Given the description of an element on the screen output the (x, y) to click on. 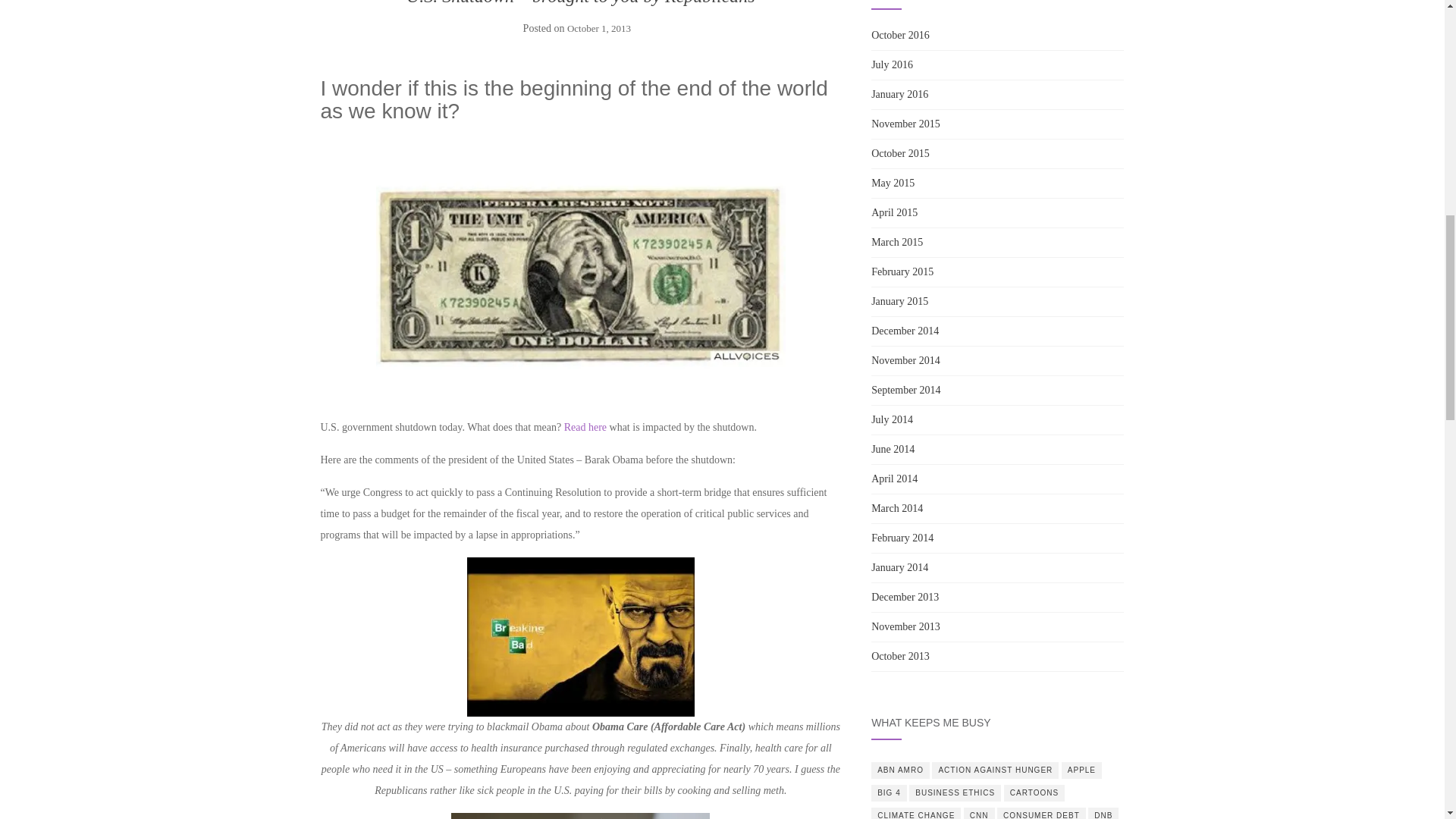
October 2015 (900, 153)
November 2015 (905, 123)
January 2015 (899, 301)
Read here (585, 427)
October 1, 2013 (598, 28)
October 2016 (900, 34)
July 2016 (891, 64)
April 2015 (893, 212)
May 2015 (892, 183)
March 2015 (896, 242)
